Given the description of an element on the screen output the (x, y) to click on. 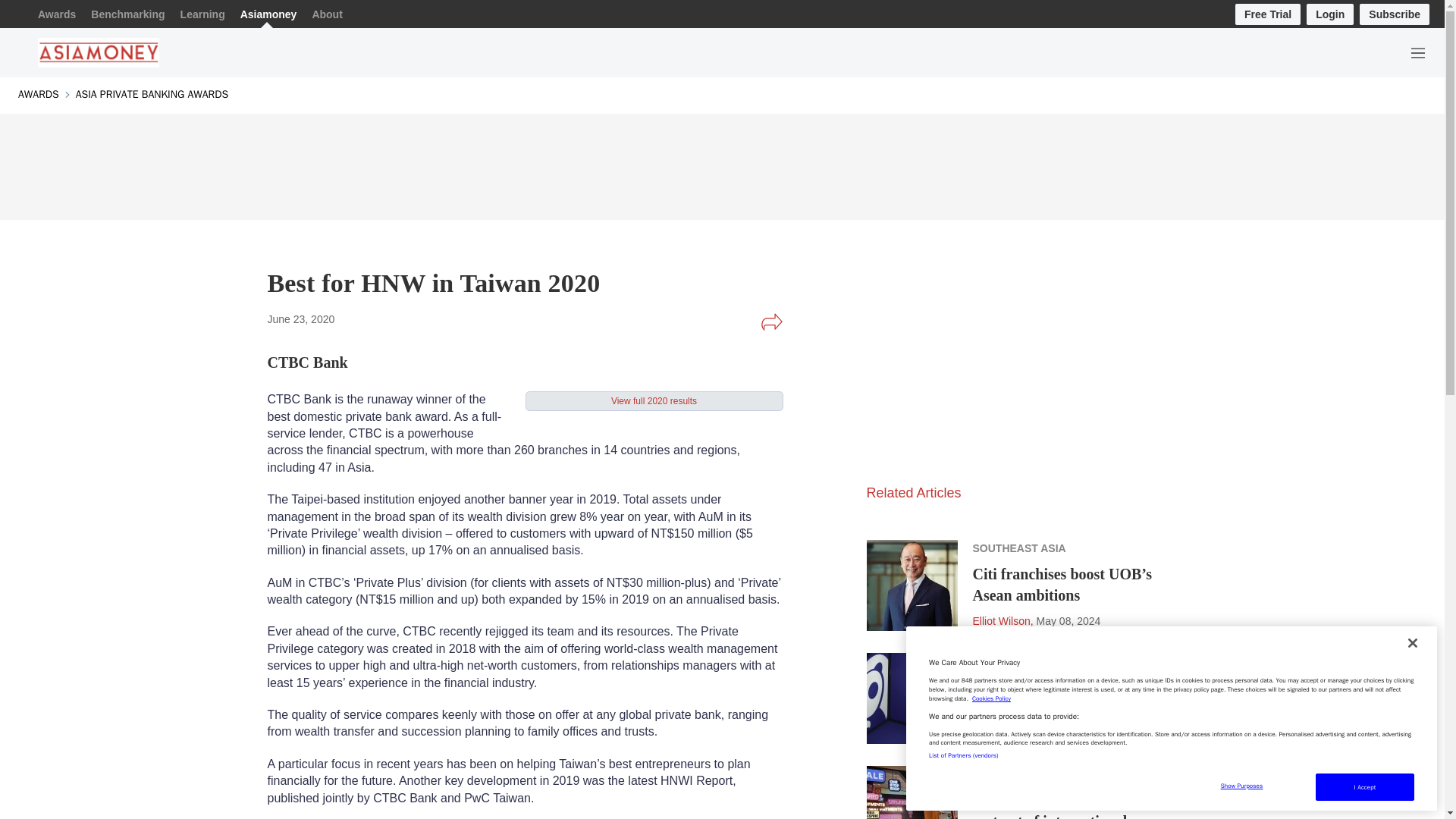
3rd party ad content (721, 162)
Asiamoney (268, 13)
Share (771, 322)
Login (1329, 13)
Awards (56, 13)
3rd party ad content (979, 375)
Benchmarking (127, 13)
Free Trial (1267, 13)
Subscribe (1394, 13)
Learning (202, 13)
